Given the description of an element on the screen output the (x, y) to click on. 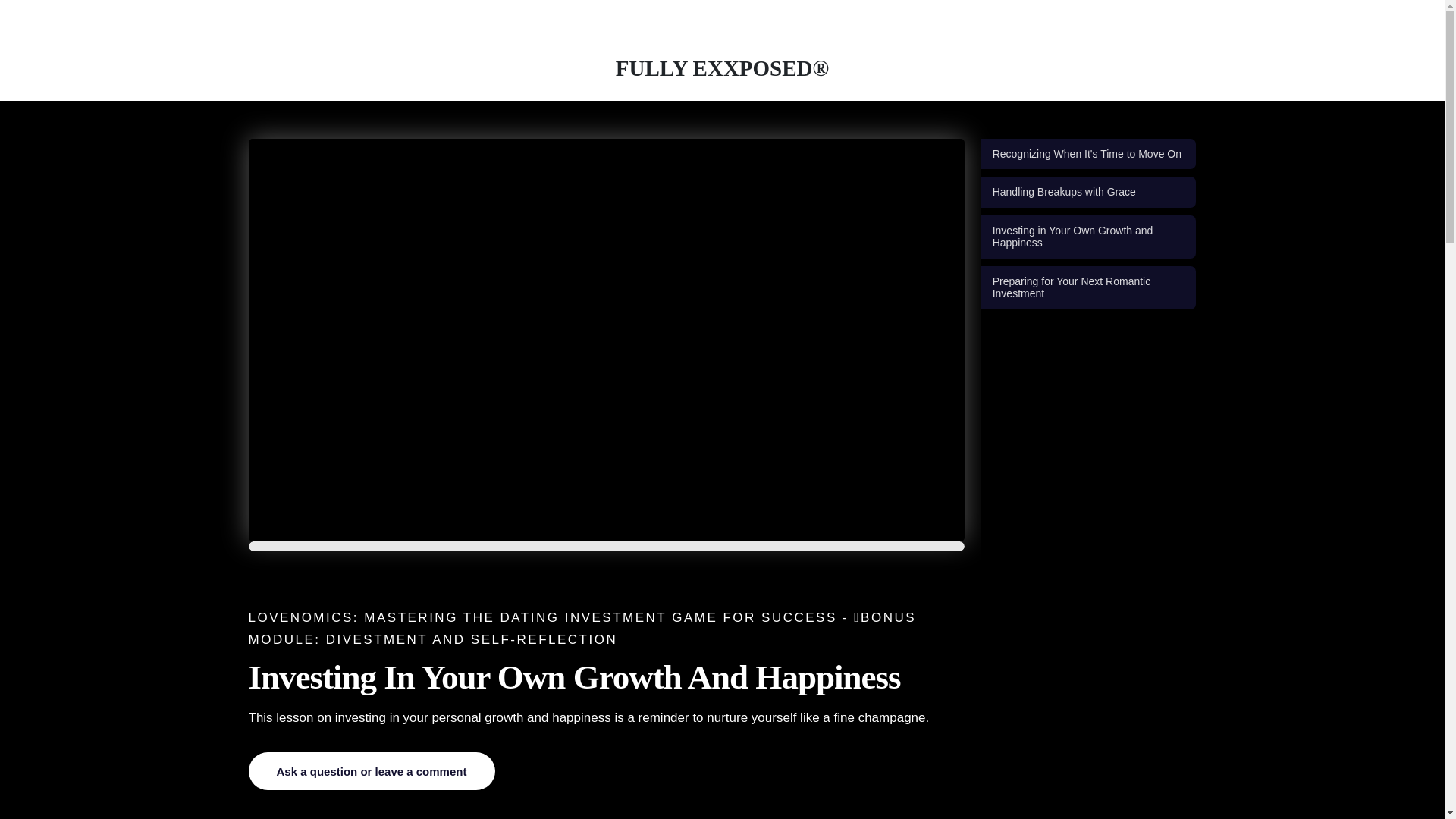
LOVENOMICS: MASTERING THE DATING INVESTMENT GAME FOR SUCCESS (542, 617)
Close quick view popup (5, 27)
Ask a question or leave a comment (371, 771)
